Given the description of an element on the screen output the (x, y) to click on. 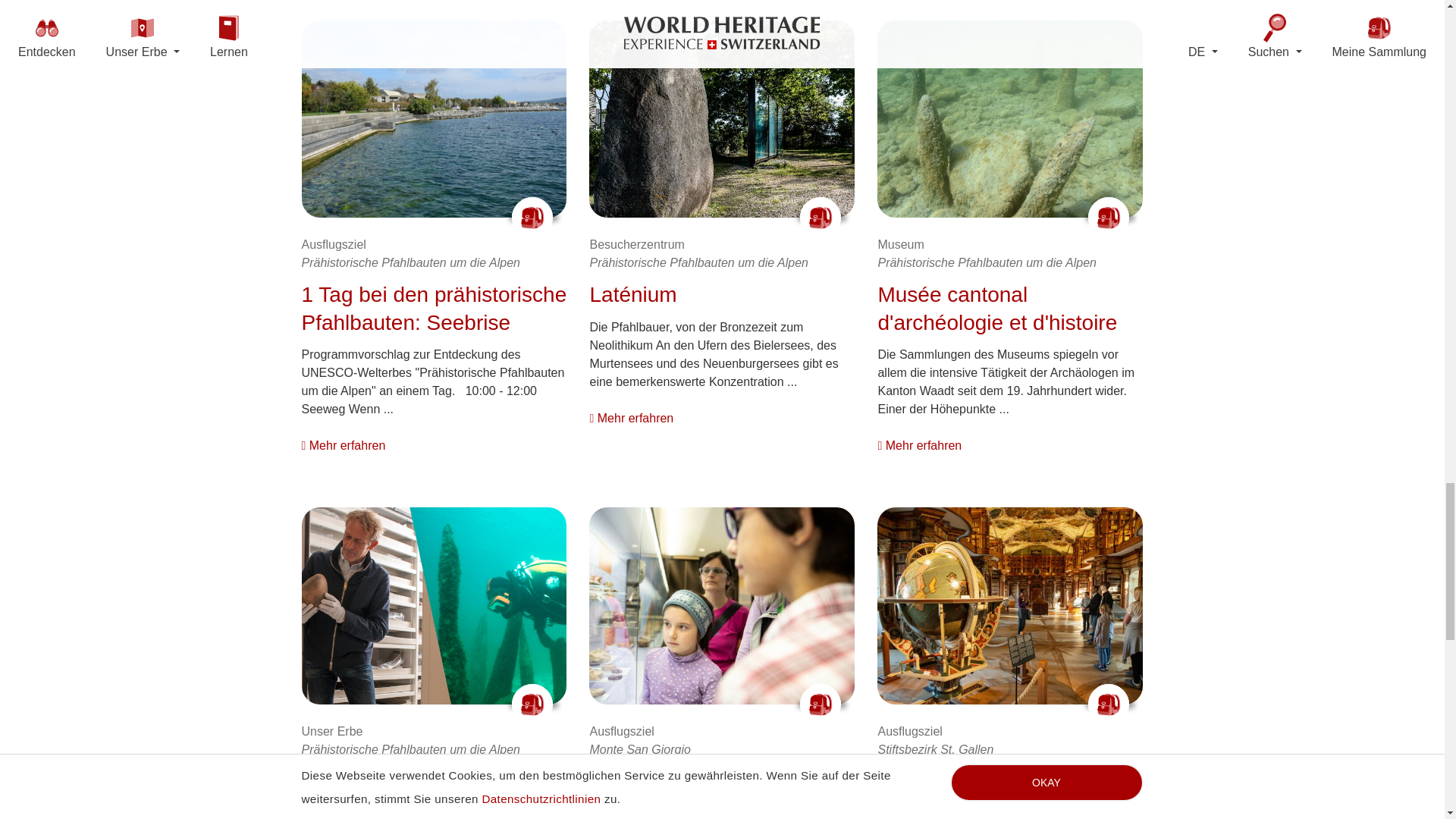
Merken (1108, 704)
Merken (1108, 217)
Merken (820, 217)
Merken (532, 217)
Merken (820, 704)
Merken (532, 704)
